Given the description of an element on the screen output the (x, y) to click on. 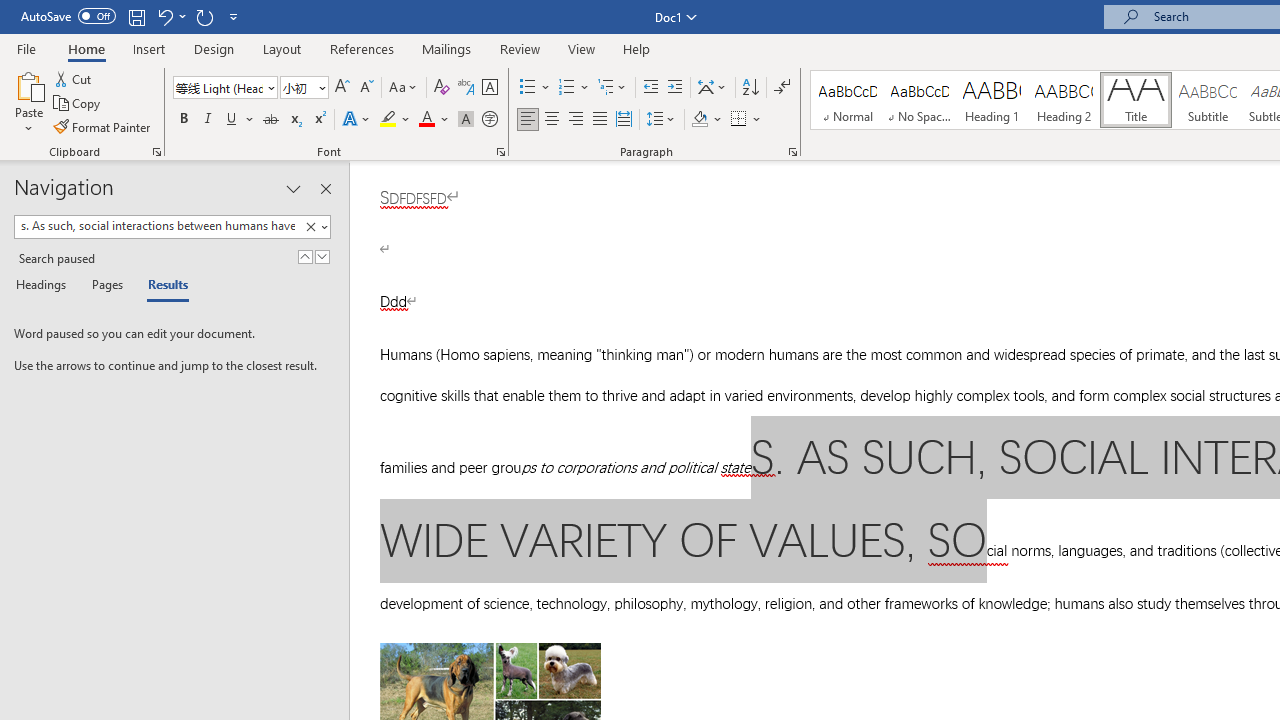
Clear (310, 227)
